Given the description of an element on the screen output the (x, y) to click on. 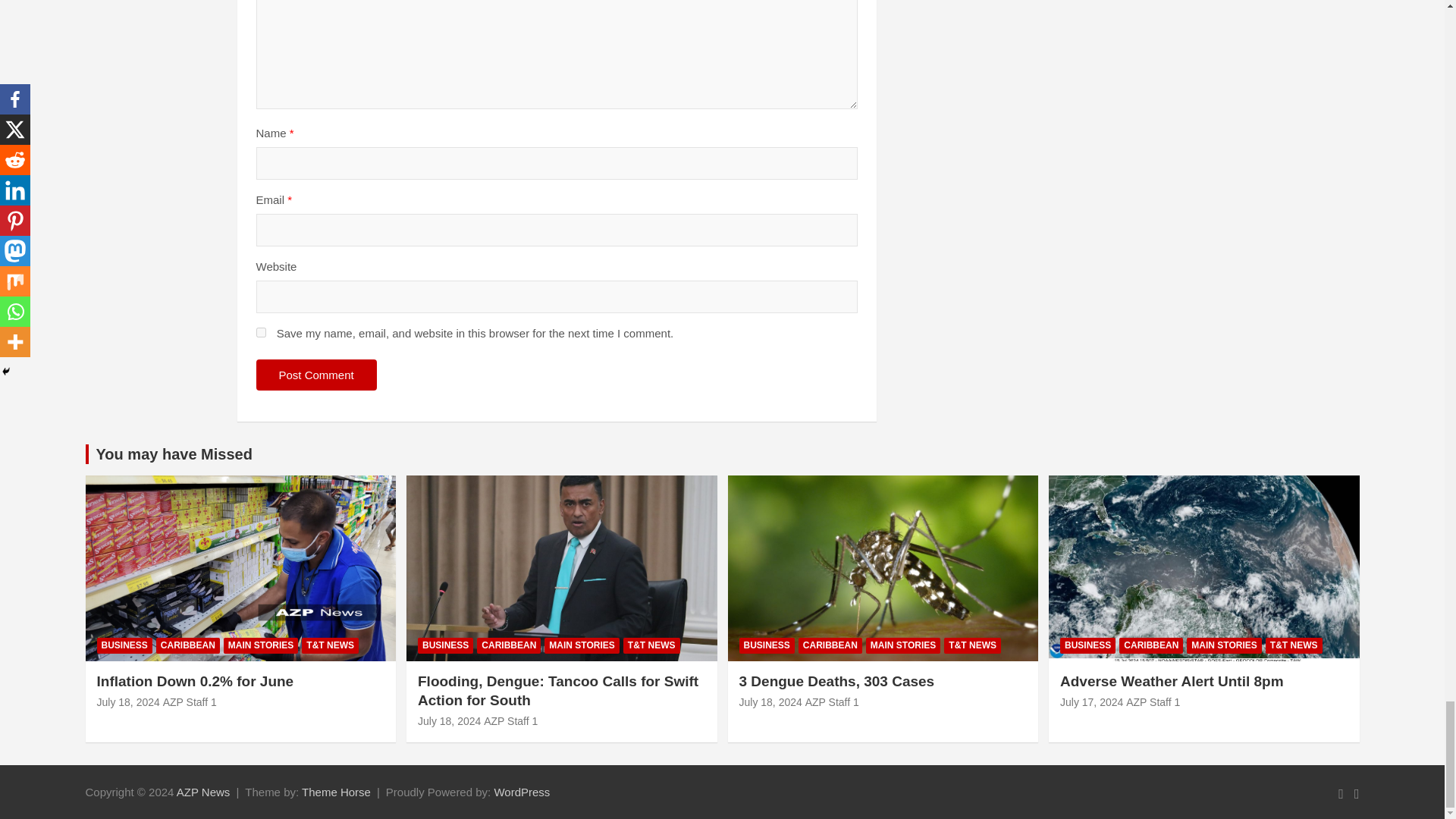
yes (261, 332)
Post Comment (316, 374)
